Given the description of an element on the screen output the (x, y) to click on. 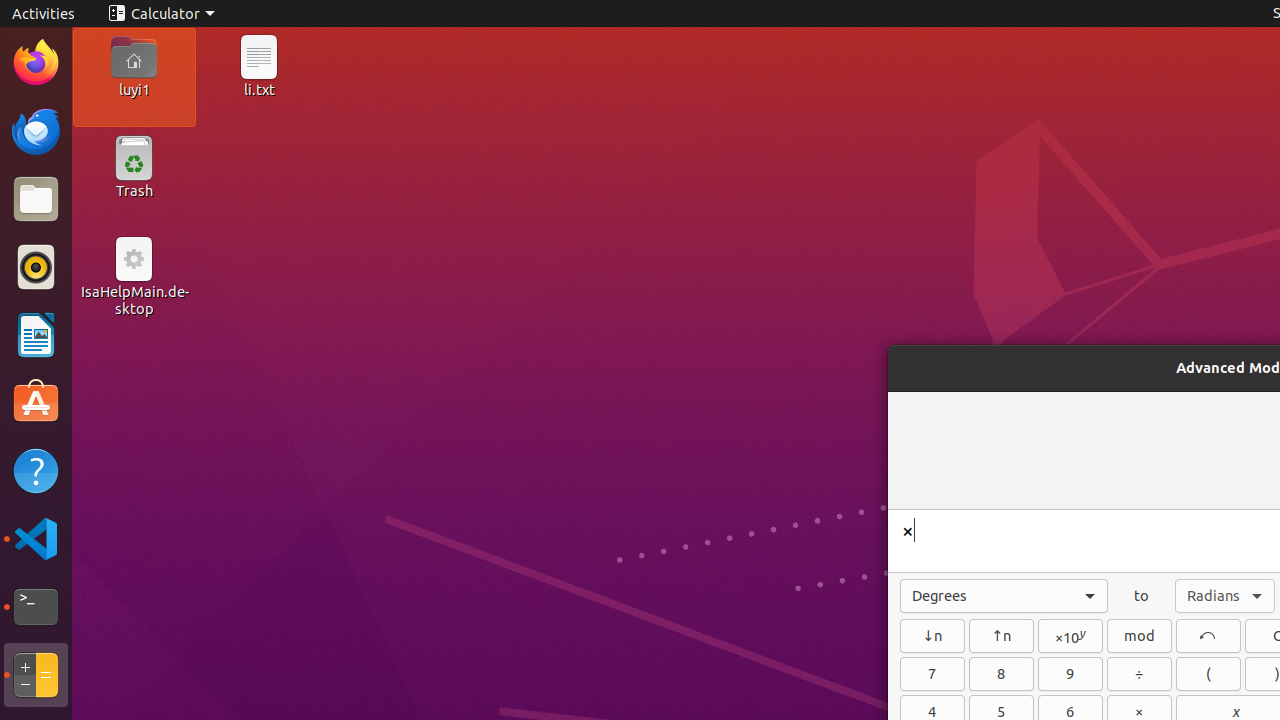
Terminal Element type: push-button (36, 607)
mod Element type: push-button (1139, 636)
